Given the description of an element on the screen output the (x, y) to click on. 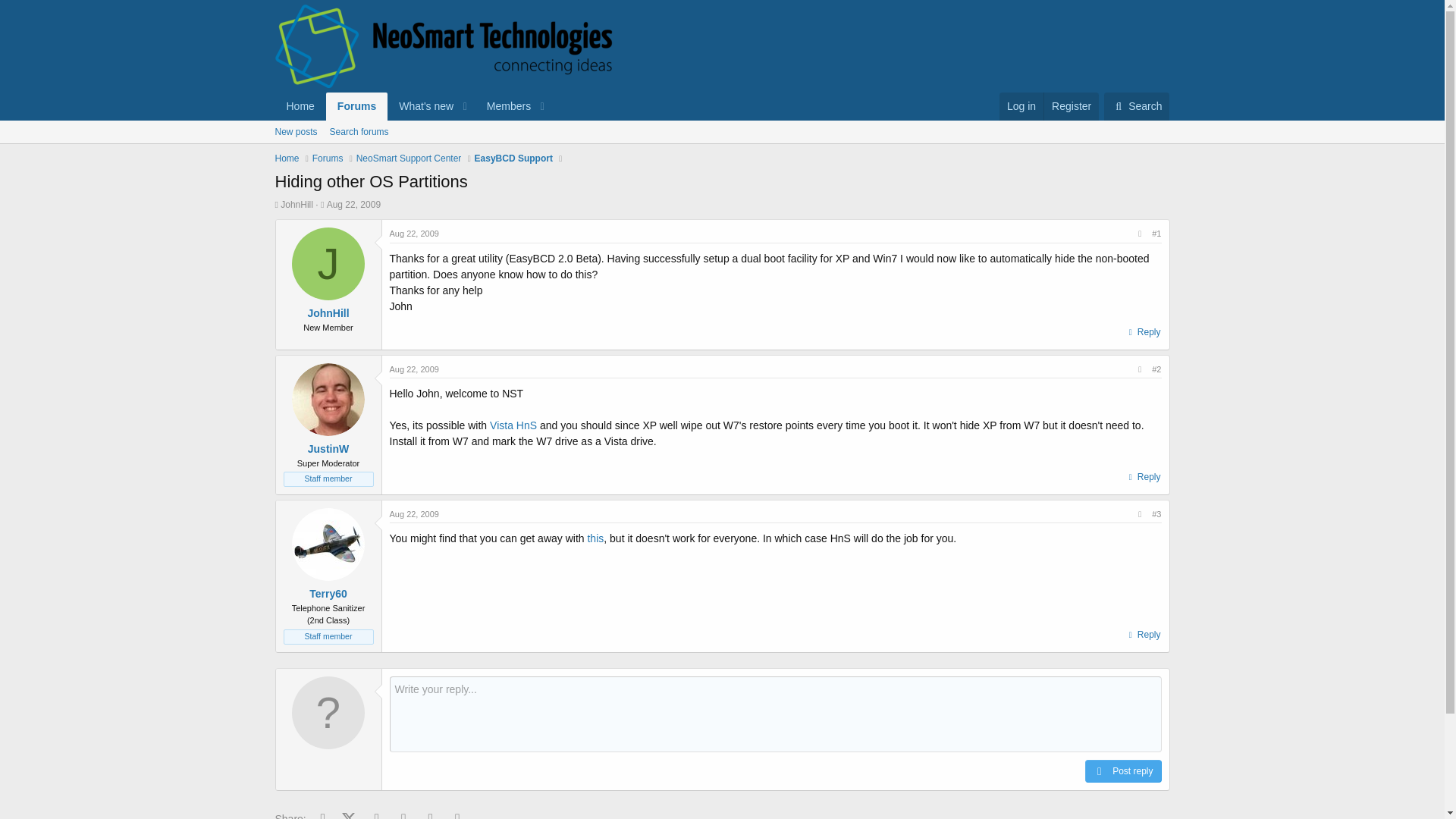
JohnHill (328, 313)
Search (1136, 106)
Log in (1020, 106)
Reply, quoting this message (1142, 634)
Search (1136, 106)
EasyBCD Support (513, 158)
What's new (420, 106)
Home (286, 158)
Forums (328, 158)
Aug 22, 2009 at 8:42 AM (414, 368)
